Given the description of an element on the screen output the (x, y) to click on. 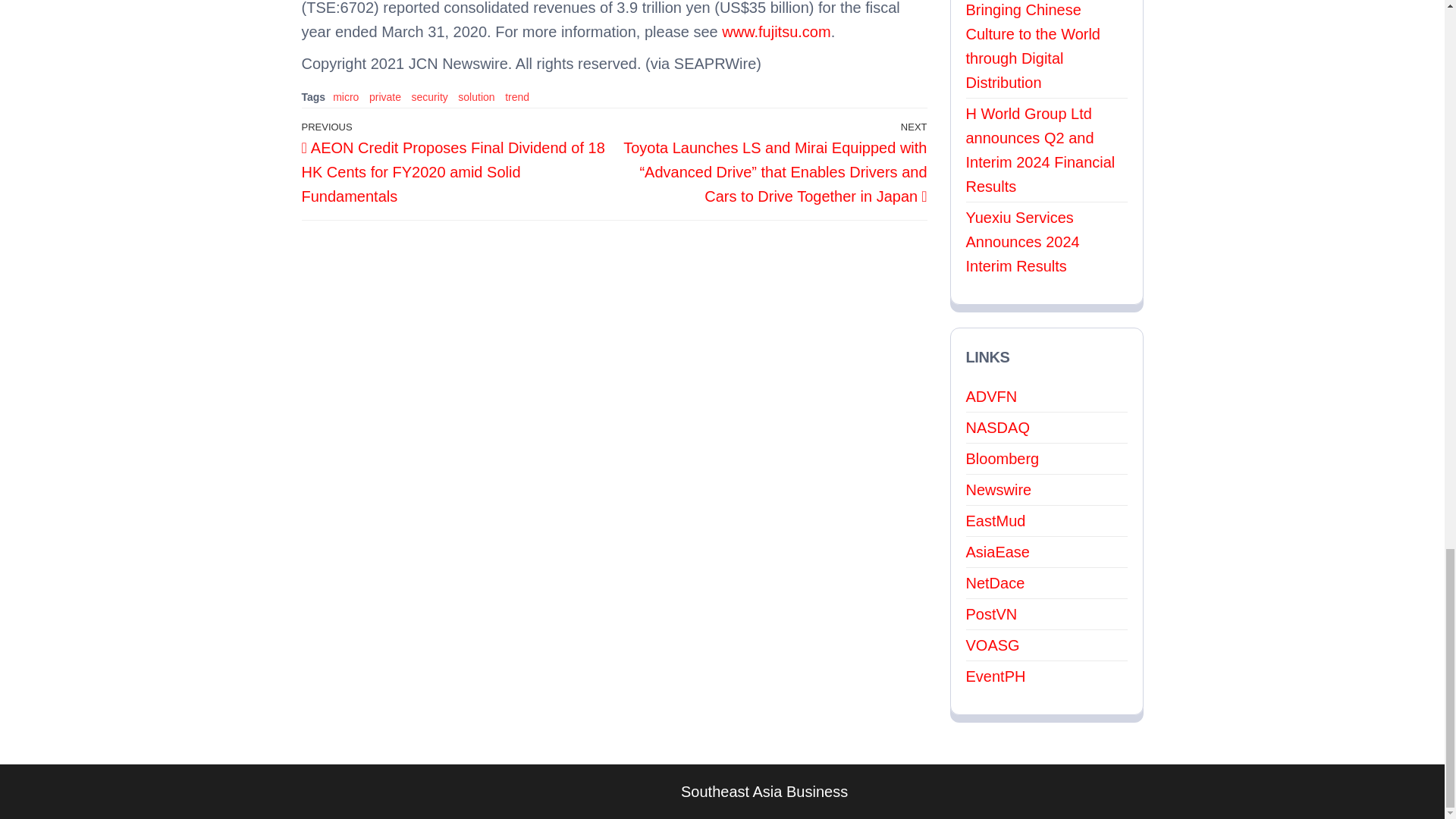
micro (345, 96)
solution (476, 96)
trend (517, 96)
private (385, 96)
security (430, 96)
www.fujitsu.com (775, 31)
